Given the description of an element on the screen output the (x, y) to click on. 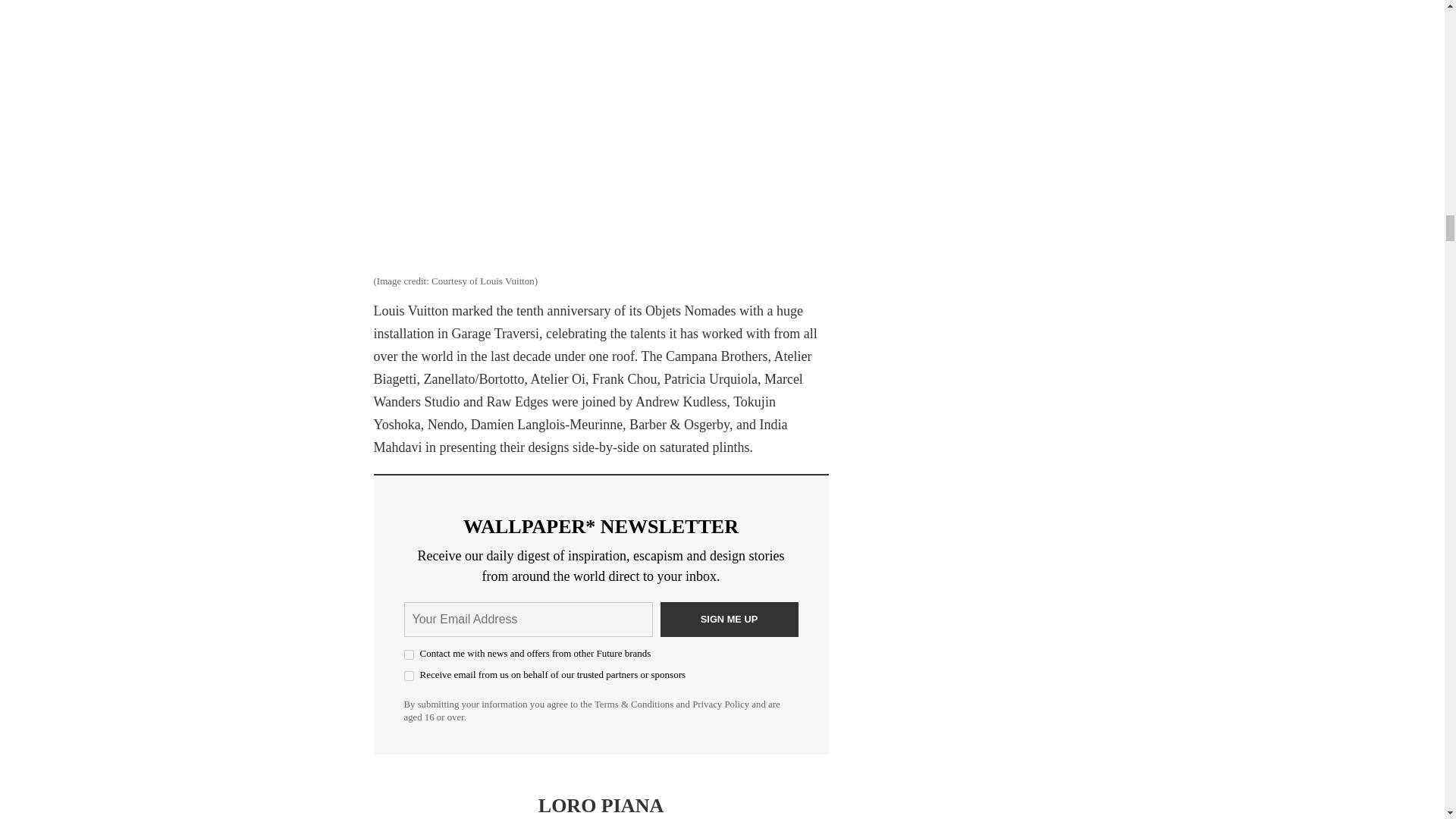
Sign me up (728, 619)
on (408, 675)
on (408, 655)
Sign me up (728, 619)
